Given the description of an element on the screen output the (x, y) to click on. 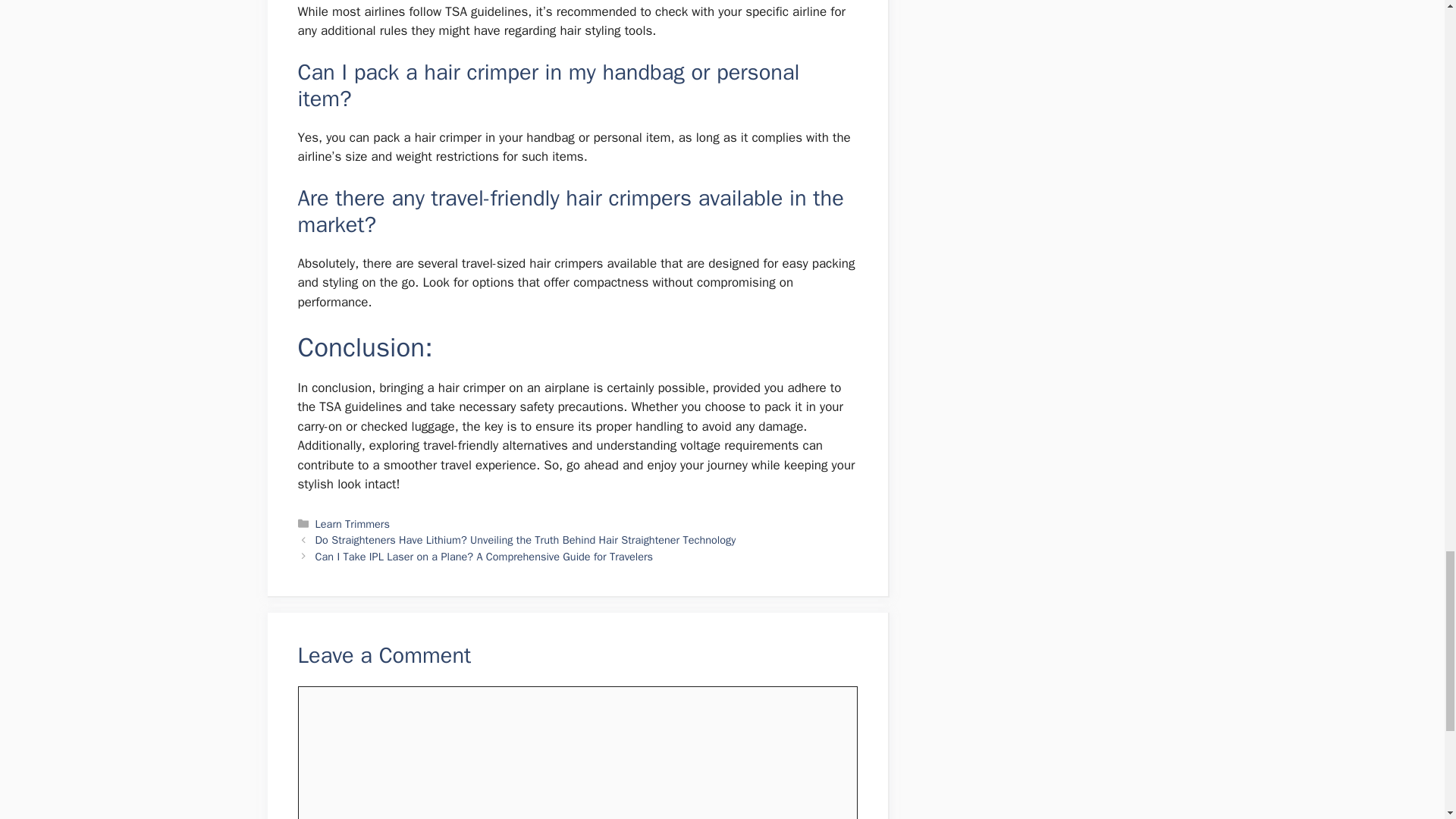
Learn Trimmers (352, 523)
